Given the description of an element on the screen output the (x, y) to click on. 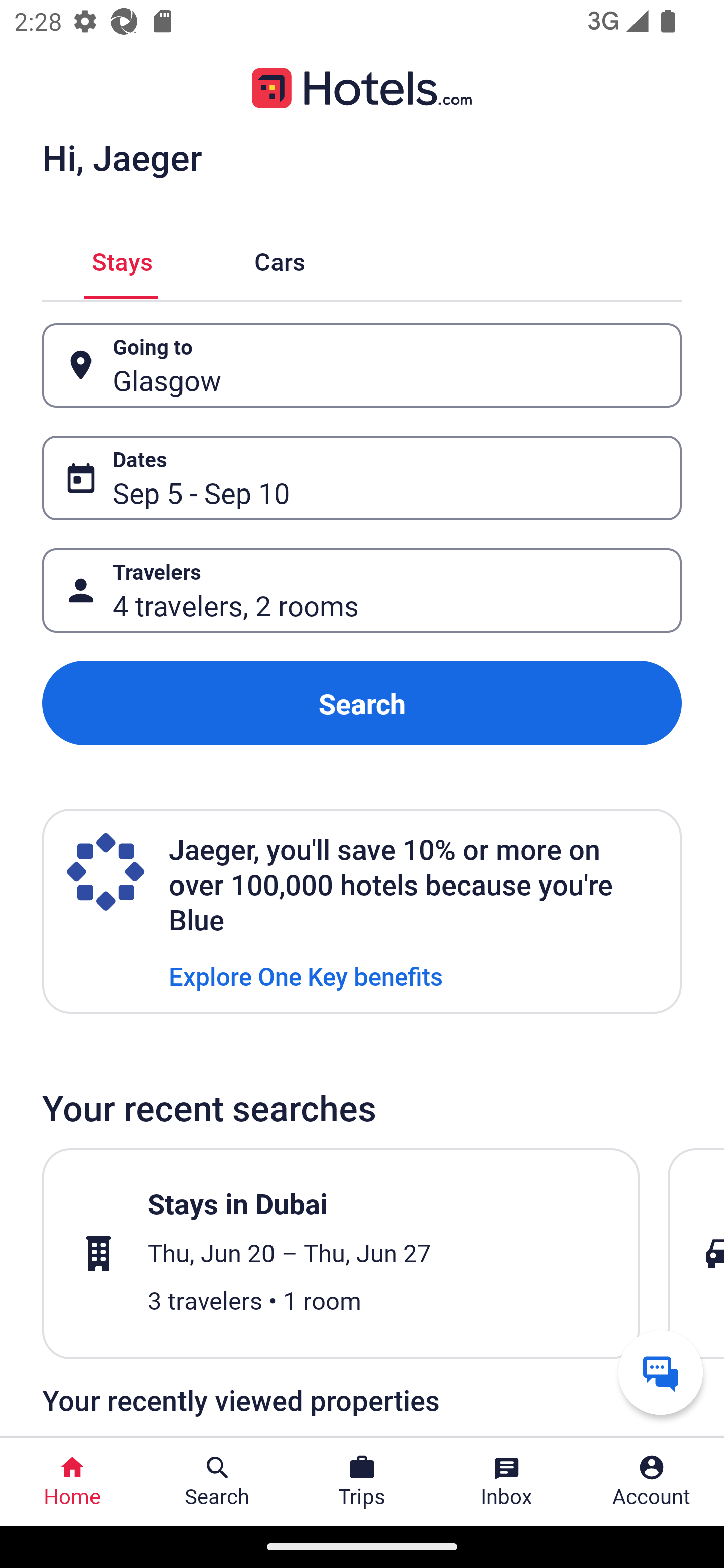
Hi, Jaeger (121, 156)
Cars (279, 259)
Going to Button Glasgow (361, 365)
Dates Button Sep 5 - Sep 10 (361, 477)
Travelers Button 4 travelers, 2 rooms (361, 590)
Search (361, 702)
Get help from a virtual agent (660, 1371)
Search Search Button (216, 1481)
Trips Trips Button (361, 1481)
Inbox Inbox Button (506, 1481)
Account Profile. Button (651, 1481)
